Given the description of an element on the screen output the (x, y) to click on. 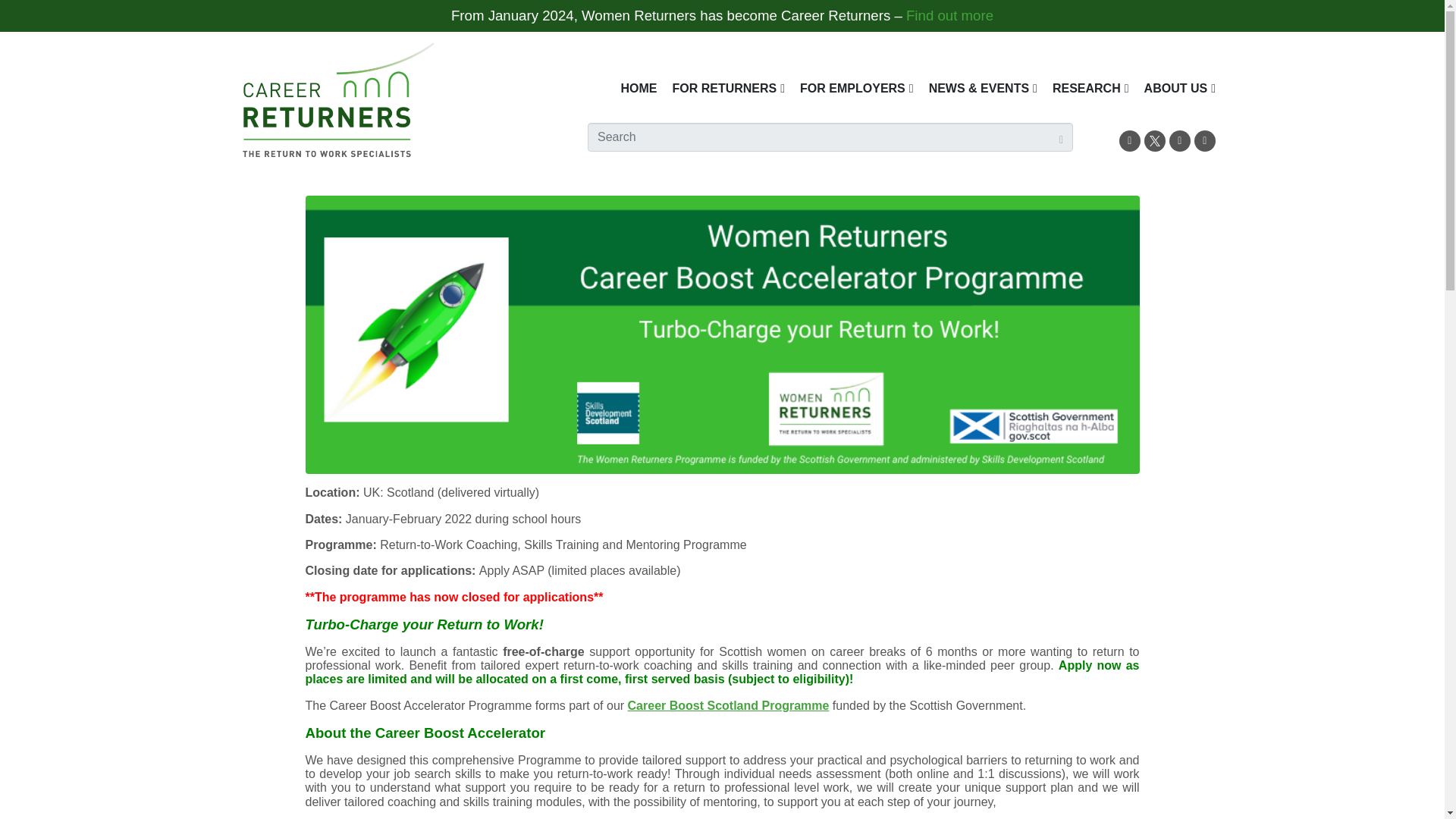
Find out more (948, 15)
HOME (637, 88)
FOR EMPLOYERS (856, 88)
FOR RETURNERS (727, 88)
